Given the description of an element on the screen output the (x, y) to click on. 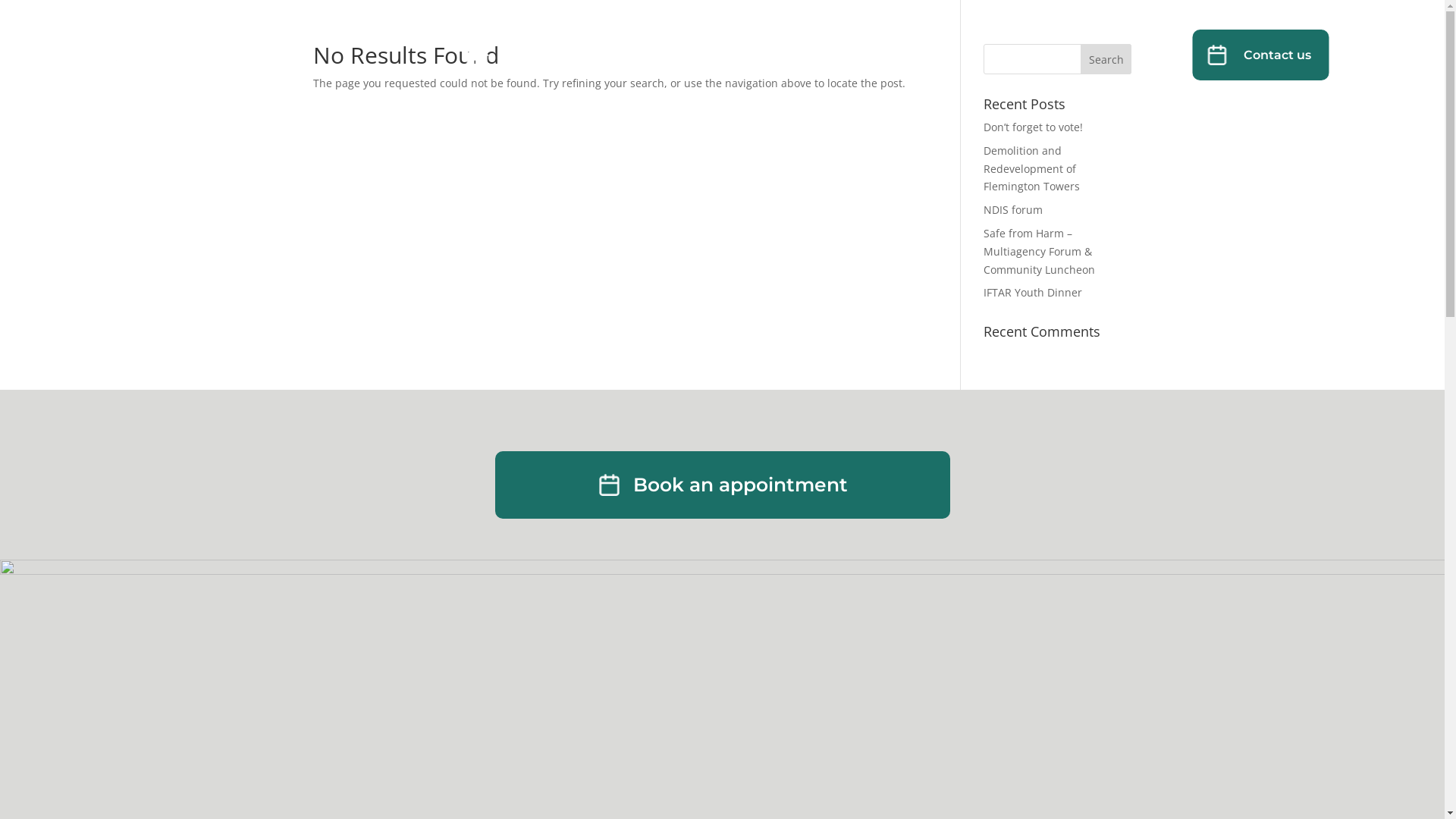
IFTAR Youth Dinner Element type: text (1032, 292)
About us Element type: text (713, 54)
Blogs Element type: text (907, 54)
Search Element type: text (1106, 58)
How can we help Element type: text (581, 54)
Get involved Element type: text (819, 54)
Demolition and Redevelopment of Flemington Towers Element type: text (1031, 168)
NDIS forum Element type: text (1012, 209)
Contact us Element type: text (1277, 54)
